Given the description of an element on the screen output the (x, y) to click on. 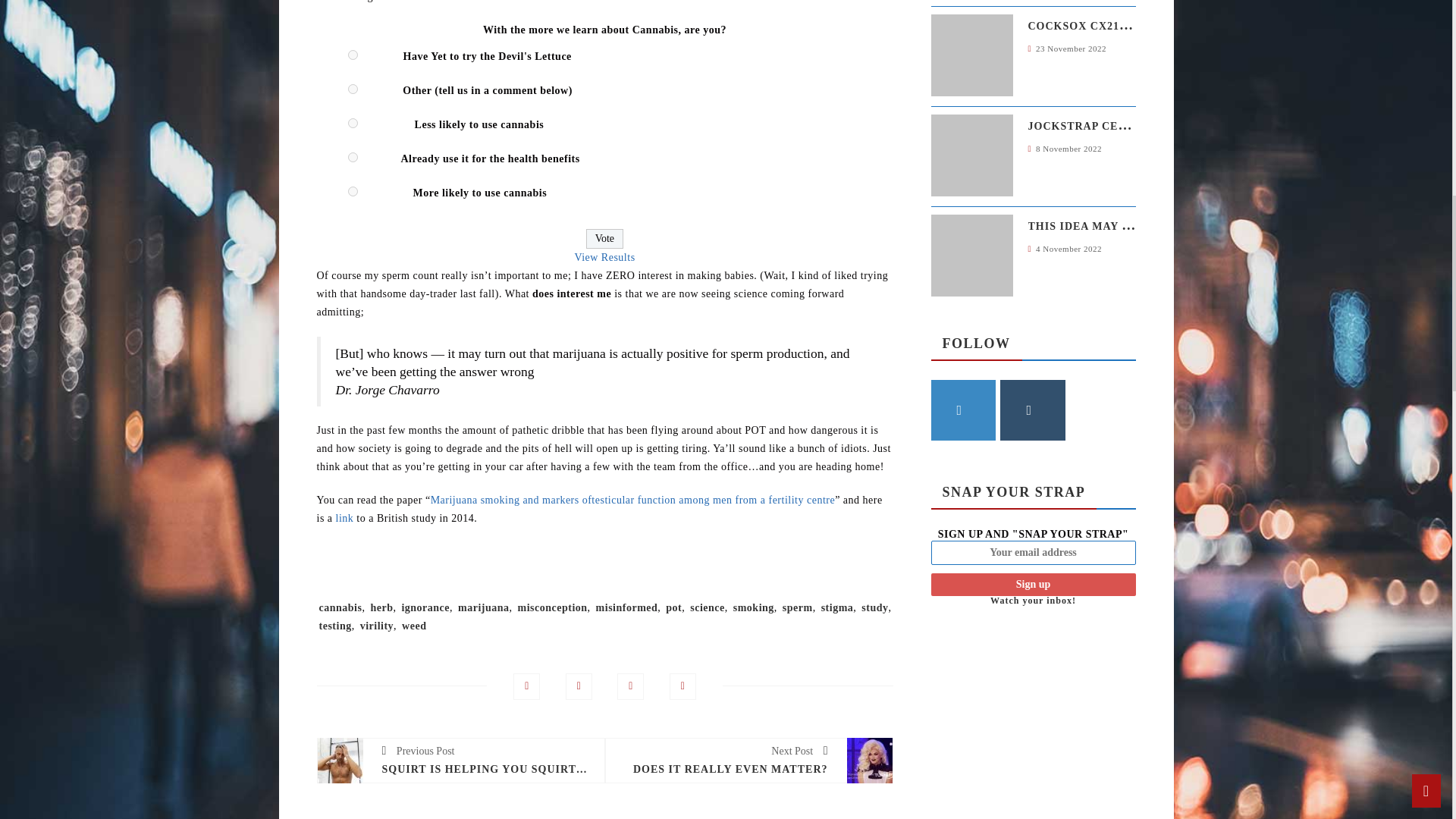
27 (352, 54)
28 (352, 89)
25 (352, 122)
Sign up (1033, 584)
26 (352, 157)
24 (352, 191)
   Vote    (604, 238)
